Given the description of an element on the screen output the (x, y) to click on. 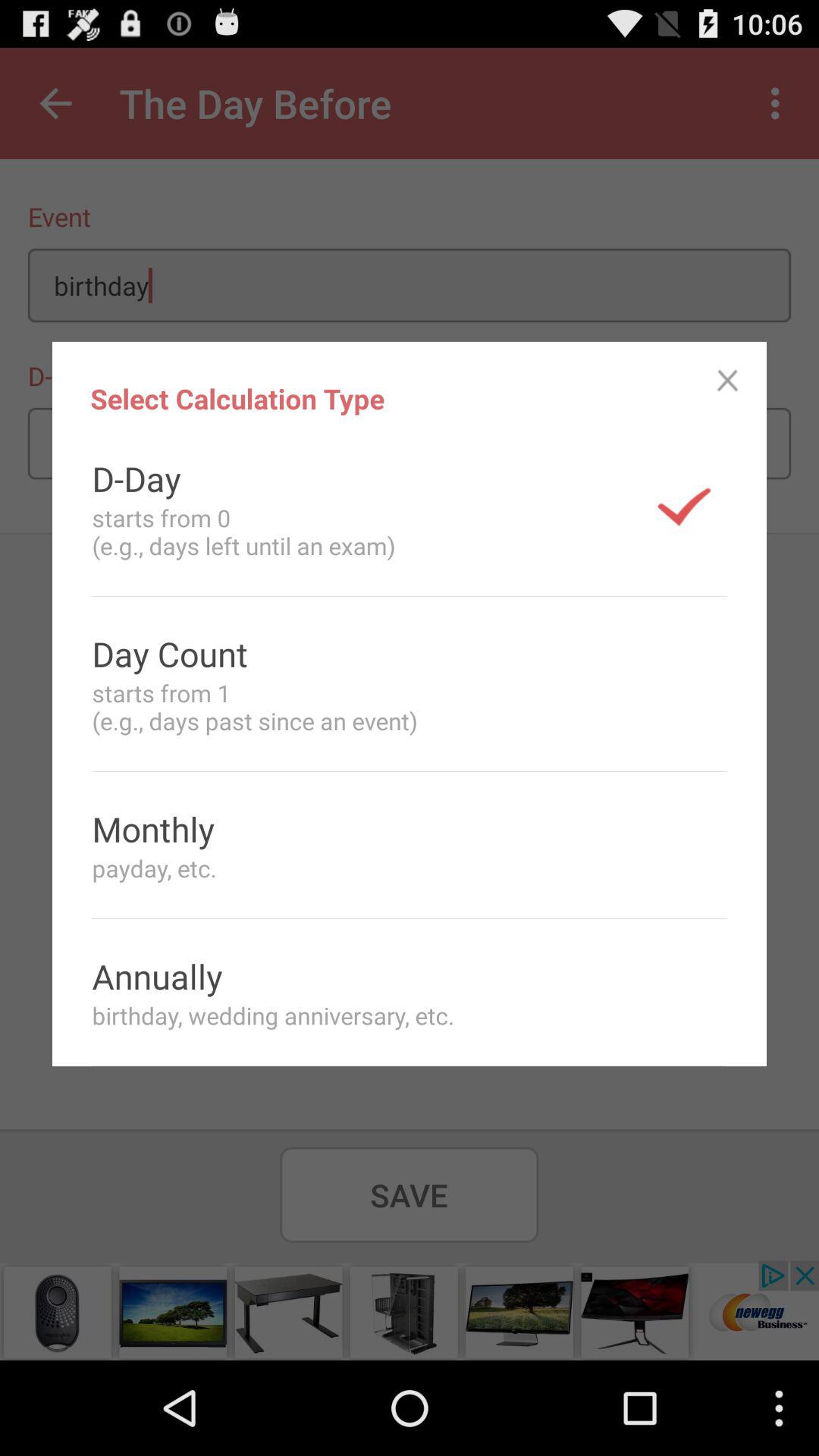
exit screen (727, 380)
